Given the description of an element on the screen output the (x, y) to click on. 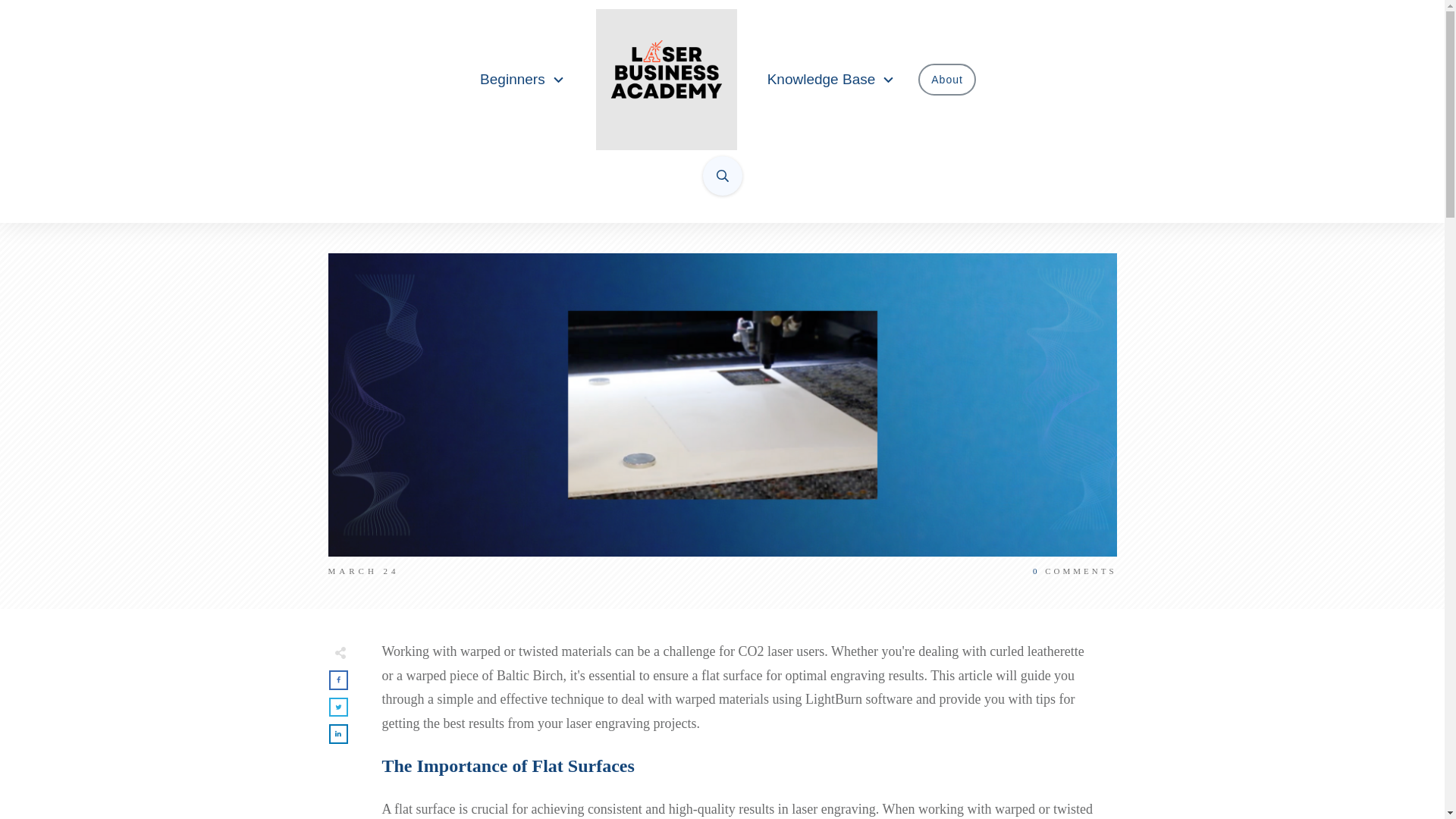
About (946, 79)
Beginners (523, 79)
Knowledge Base (831, 79)
